Given the description of an element on the screen output the (x, y) to click on. 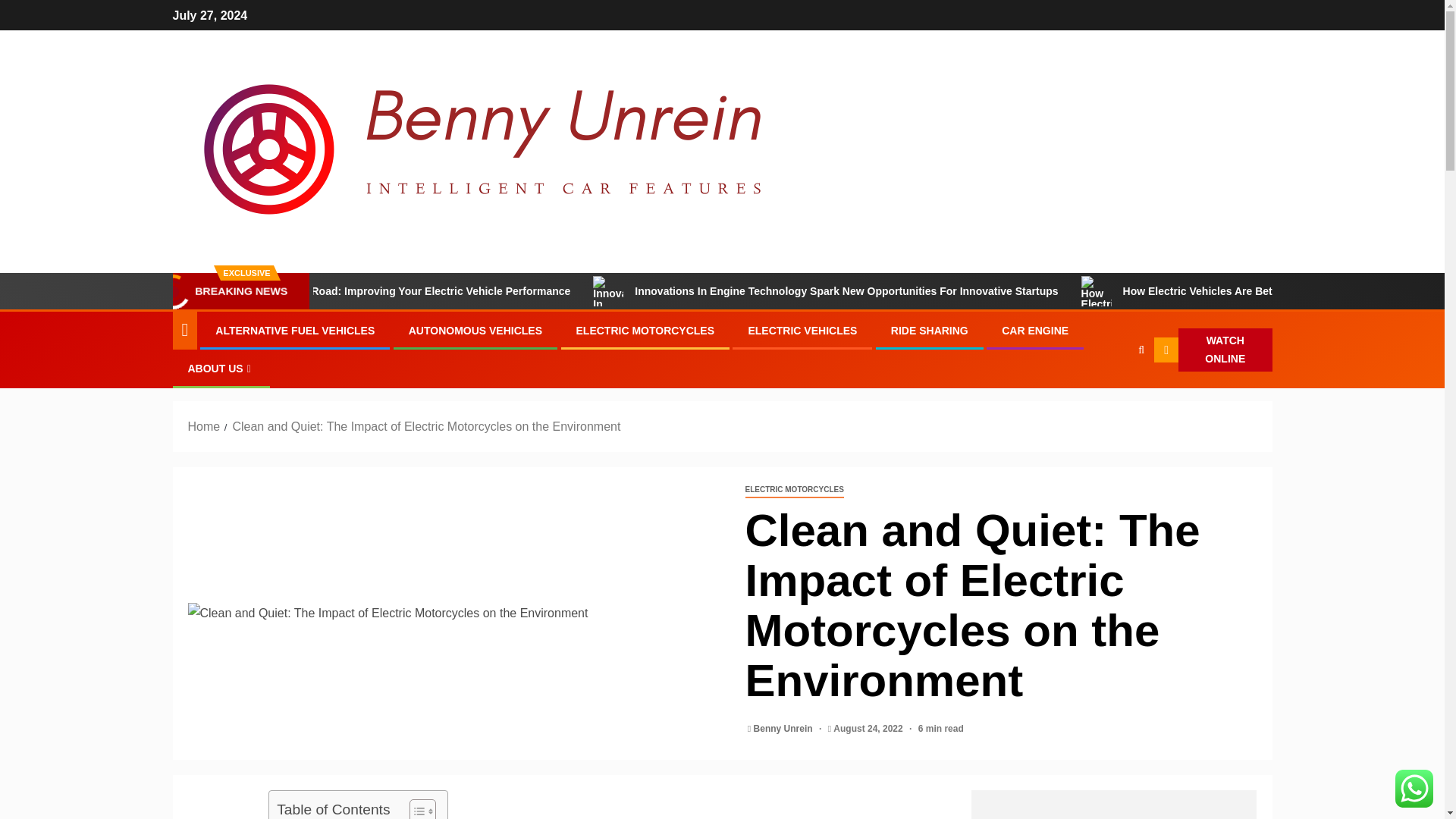
ELECTRIC MOTORCYCLES (645, 330)
Home (204, 426)
ABOUT US (220, 368)
RIDE SHARING (929, 330)
ALTERNATIVE FUEL VEHICLES (294, 330)
WATCH ONLINE (1212, 350)
AUTONOMOUS VEHICLES (475, 330)
CAR ENGINE (1034, 330)
ELECTRIC MOTORCYCLES (793, 489)
Search (1111, 396)
ELECTRIC VEHICLES (802, 330)
Benny Unrein (784, 728)
